Given the description of an element on the screen output the (x, y) to click on. 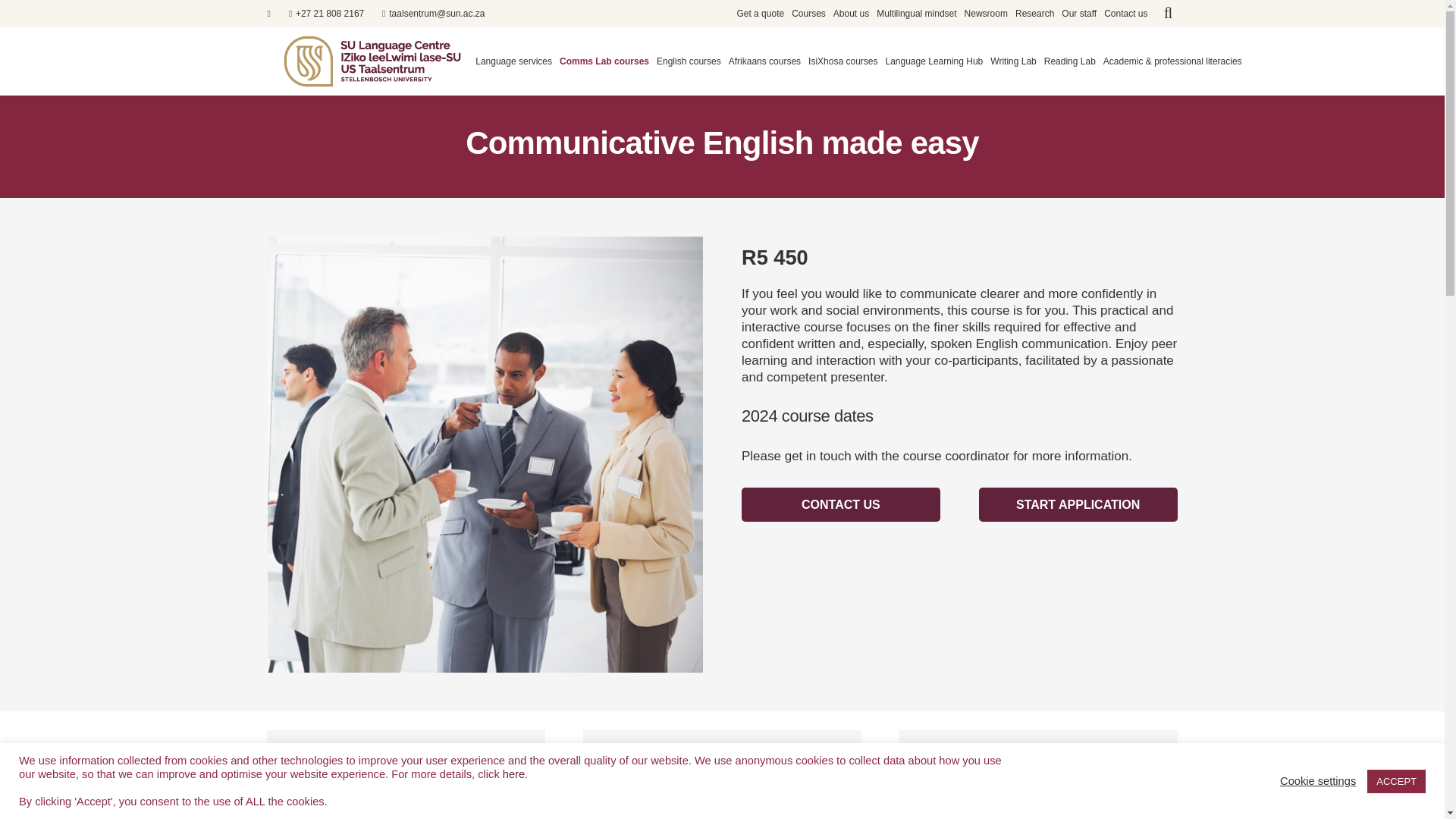
Apply now (1077, 504)
Multilingual mindset (915, 16)
Comms Lab courses (607, 61)
Newsroom (985, 16)
Get a quote (759, 16)
Language services (517, 61)
Courses (808, 16)
Research (1034, 16)
Contact us (840, 504)
Contact us (1125, 16)
Our staff (1079, 16)
About us (850, 16)
